Given the description of an element on the screen output the (x, y) to click on. 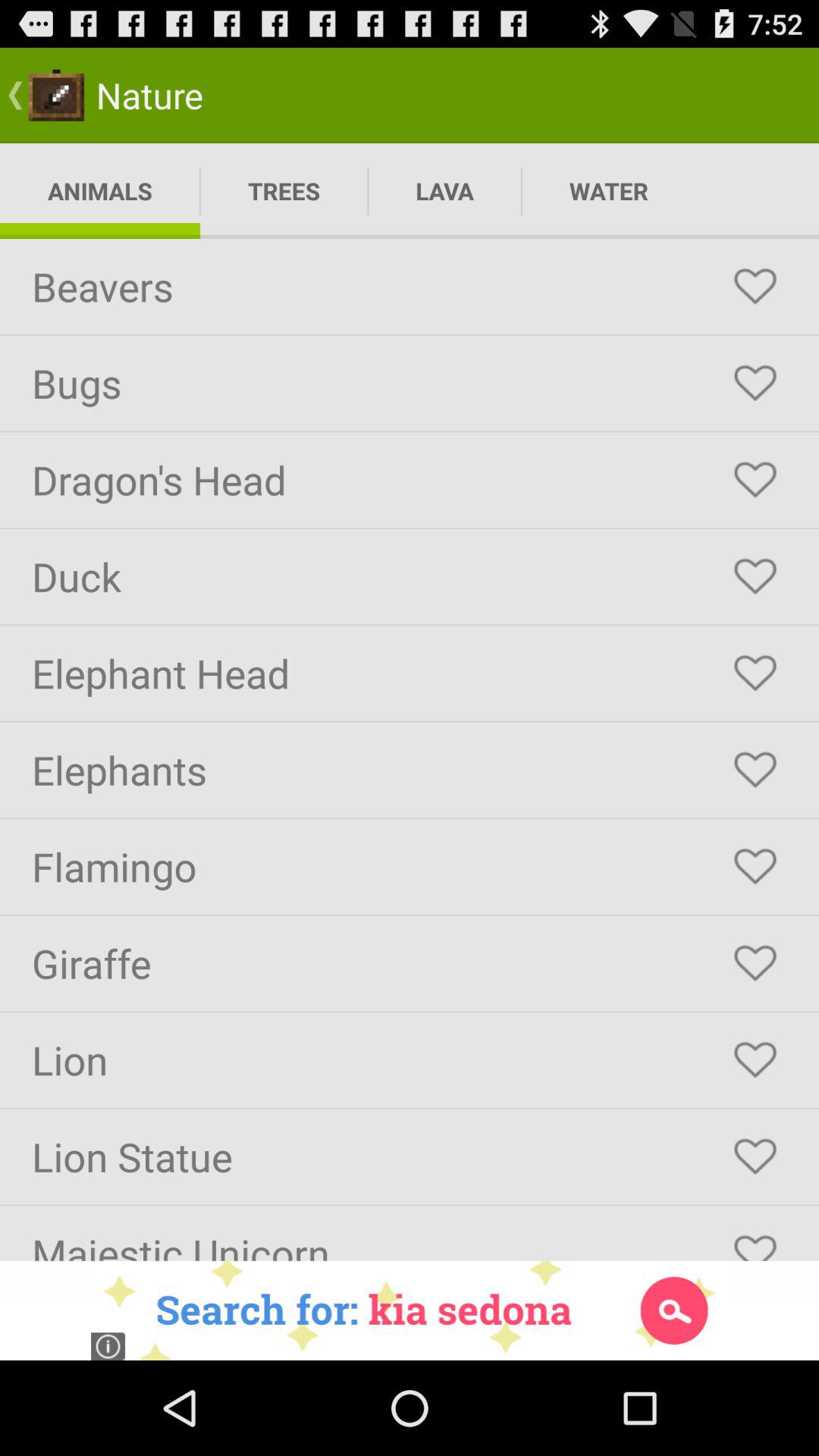
favorite button (755, 286)
